Given the description of an element on the screen output the (x, y) to click on. 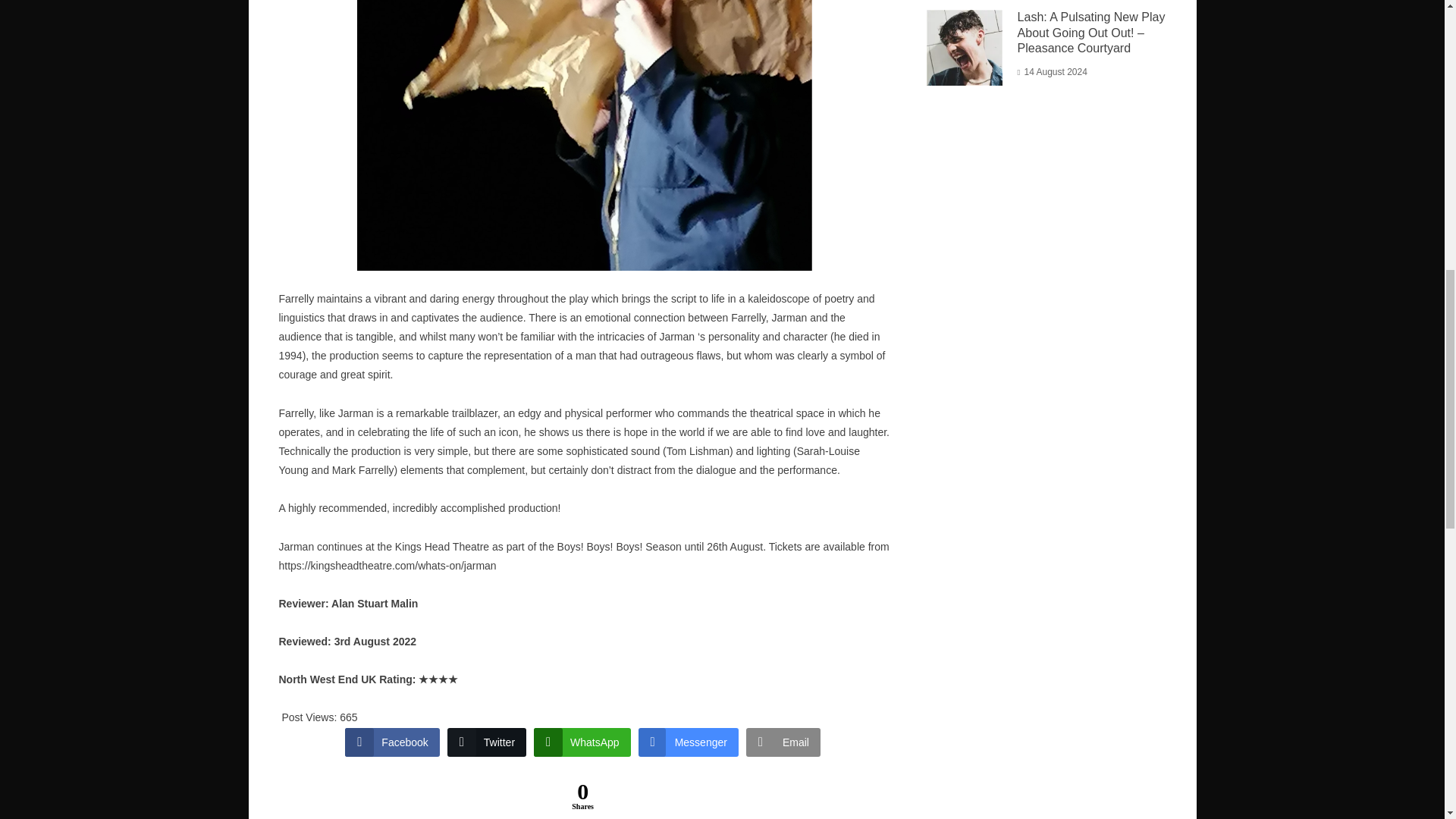
WhatsApp (582, 742)
Messenger (688, 742)
Email (783, 742)
Facebook (392, 742)
Twitter (485, 742)
